Given the description of an element on the screen output the (x, y) to click on. 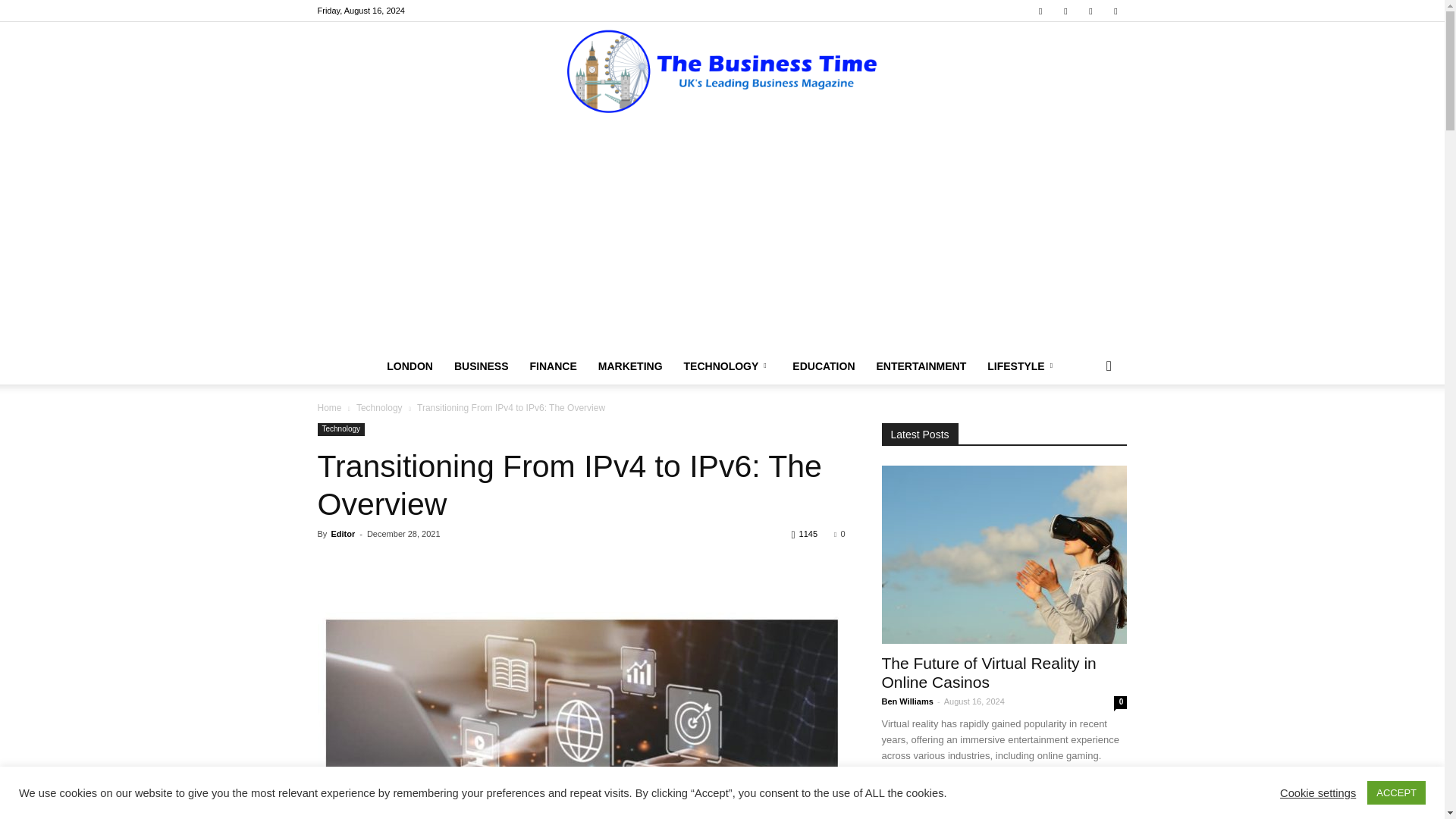
The Business Time (722, 72)
Pinterest (1090, 10)
Linkedin (1065, 10)
Facebook (1040, 10)
Twitter (1114, 10)
